Given the description of an element on the screen output the (x, y) to click on. 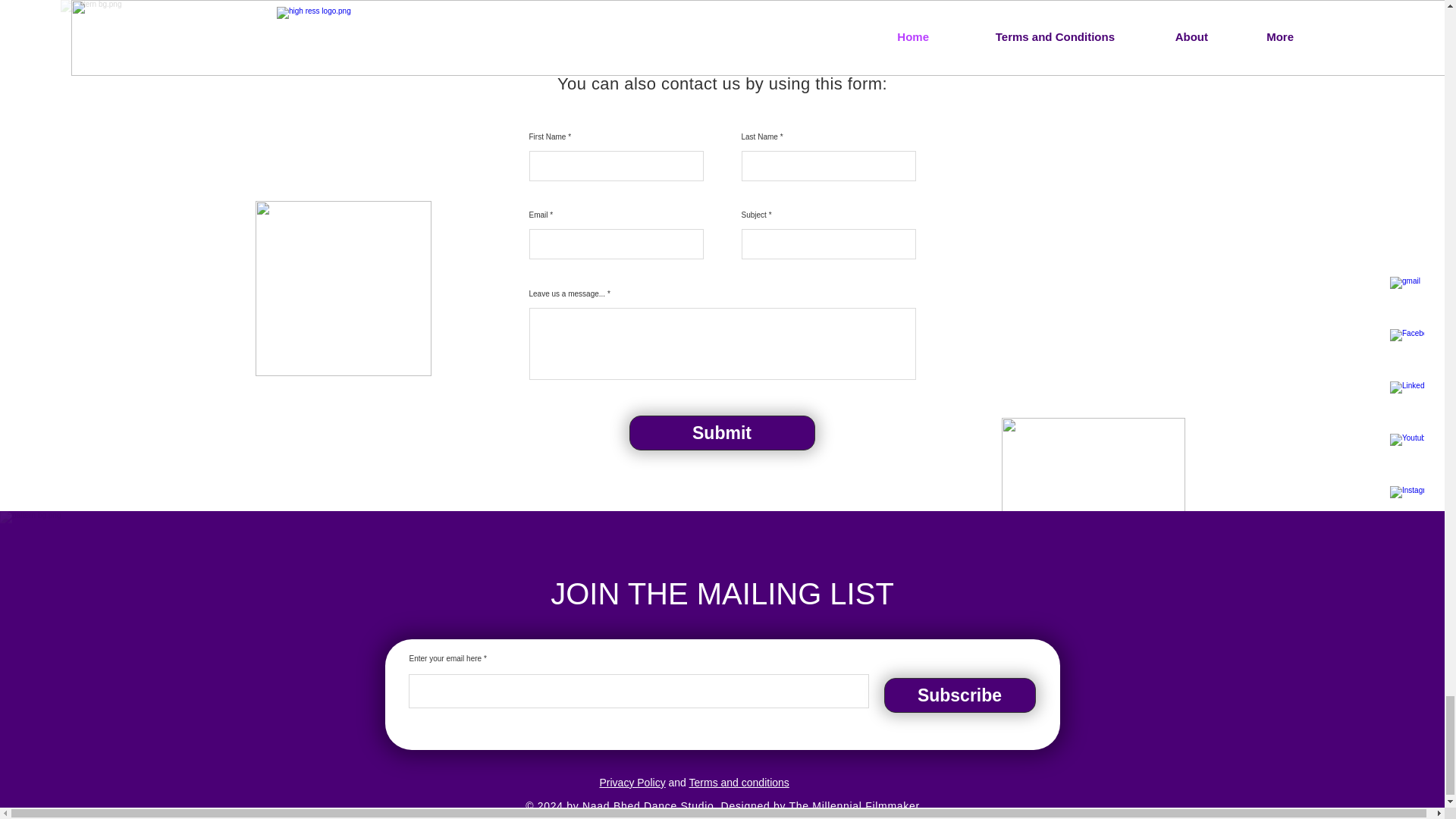
Privacy Policy (631, 782)
Terms and conditions (738, 782)
Submit (721, 432)
97014 47110 (748, 24)
Subscribe (959, 695)
